Given the description of an element on the screen output the (x, y) to click on. 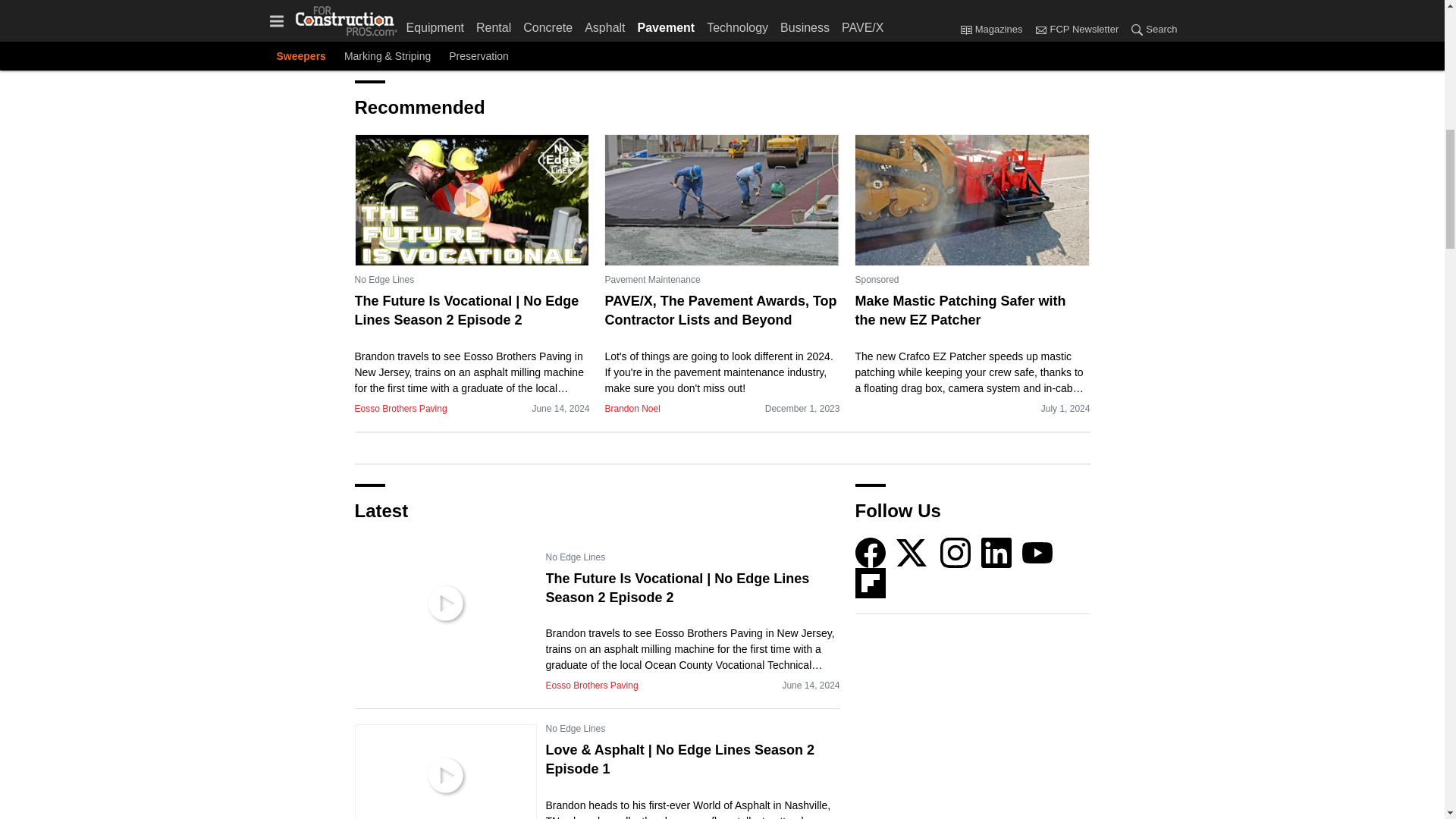
Flipboard icon (870, 583)
Share To facebook (406, 14)
LinkedIn icon (996, 552)
Instagram icon (955, 552)
Sponsored (876, 279)
Share To twitter (479, 14)
Twitter X icon (911, 552)
Share To email (370, 14)
Share To linkedin (443, 14)
YouTube icon (1037, 552)
Facebook icon (870, 552)
Pavement Maintenance (652, 279)
